Given the description of an element on the screen output the (x, y) to click on. 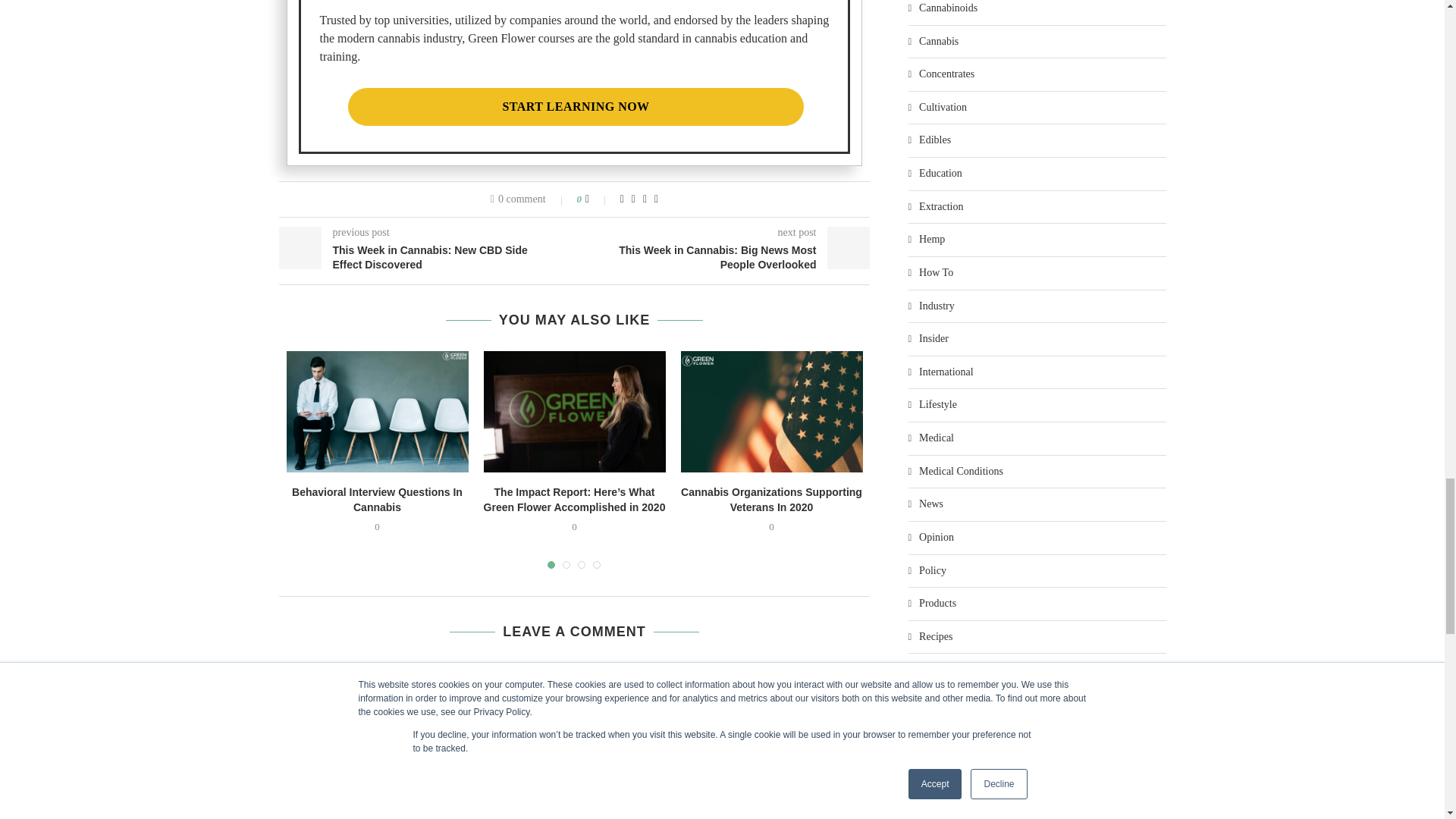
Cannabis Organizations Supporting Veterans In 2020 (772, 411)
Like (597, 199)
Behavioral Interview Questions In Cannabis (377, 411)
